Given the description of an element on the screen output the (x, y) to click on. 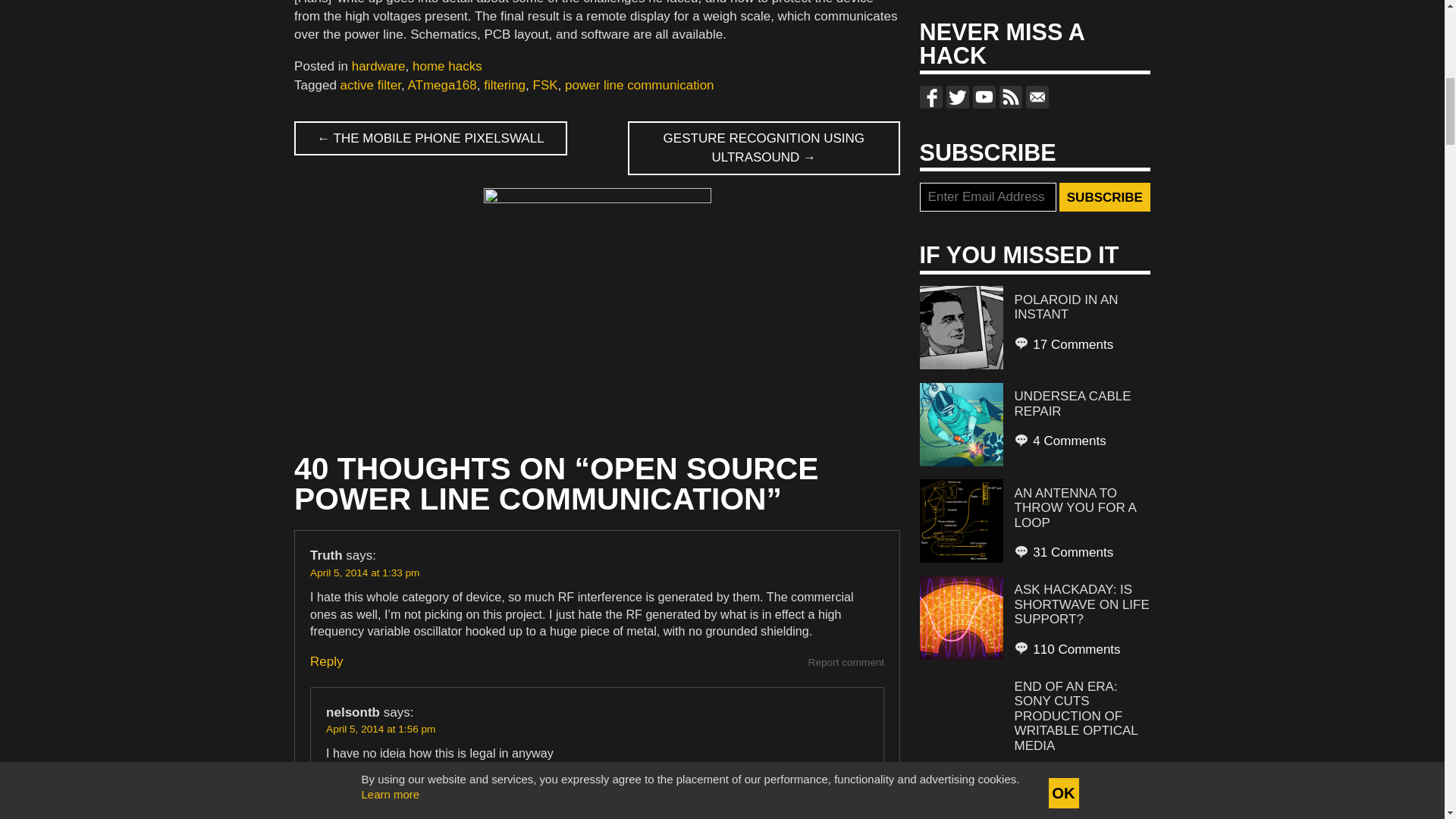
FSK (544, 84)
filtering (504, 84)
active filter (370, 84)
home hacks (446, 65)
power line communication (639, 84)
ATmega168 (441, 84)
Subscribe (1104, 196)
hardware (379, 65)
